Given the description of an element on the screen output the (x, y) to click on. 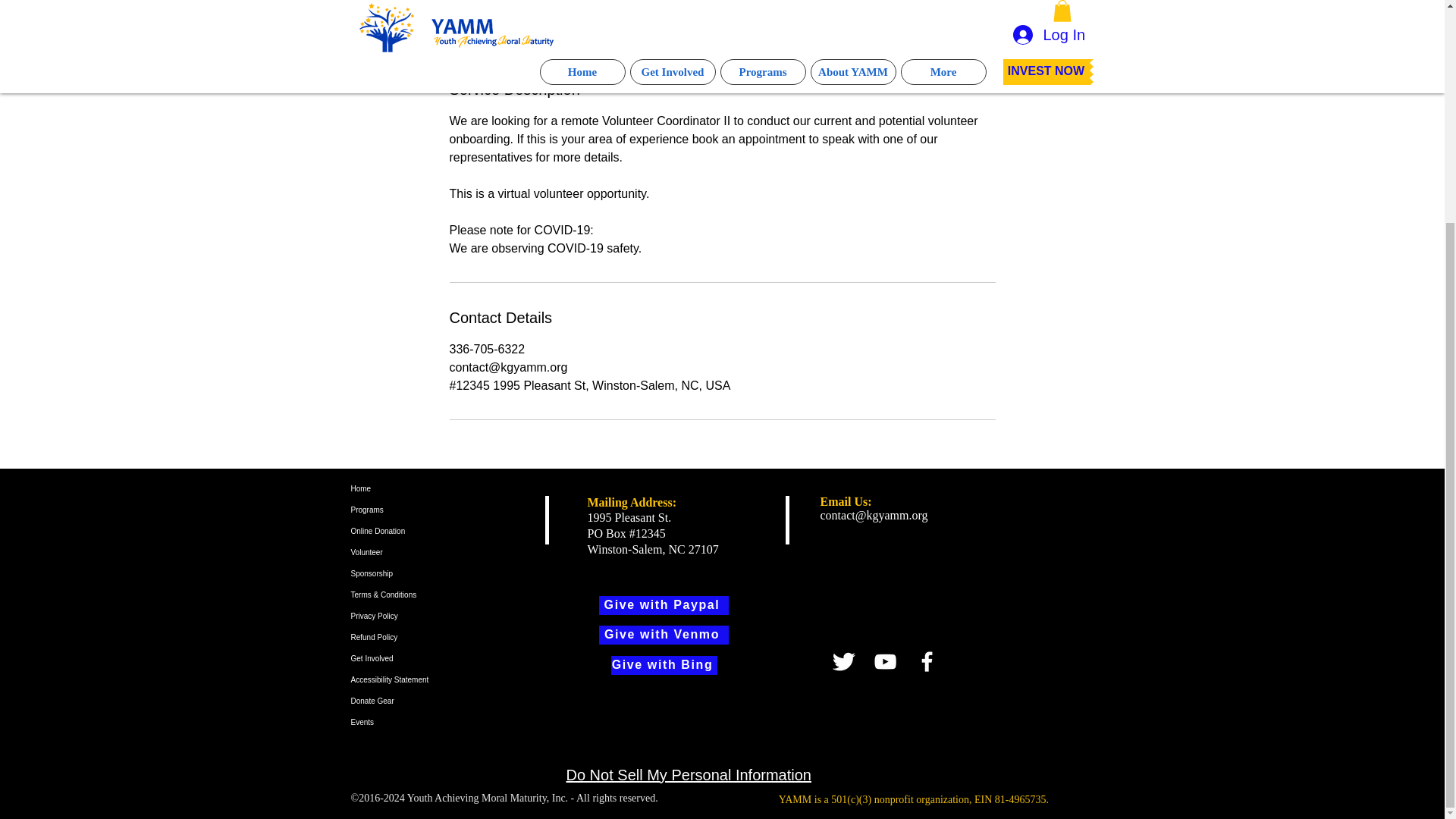
Refund Policy (415, 637)
Get Involved (415, 658)
Online Donation (415, 531)
Accessibility Statement (415, 680)
Donate Gear (415, 701)
Programs (415, 509)
Volunteer (415, 552)
Give with Venmo (663, 634)
Give with Paypal (663, 605)
Events (415, 722)
